Given the description of an element on the screen output the (x, y) to click on. 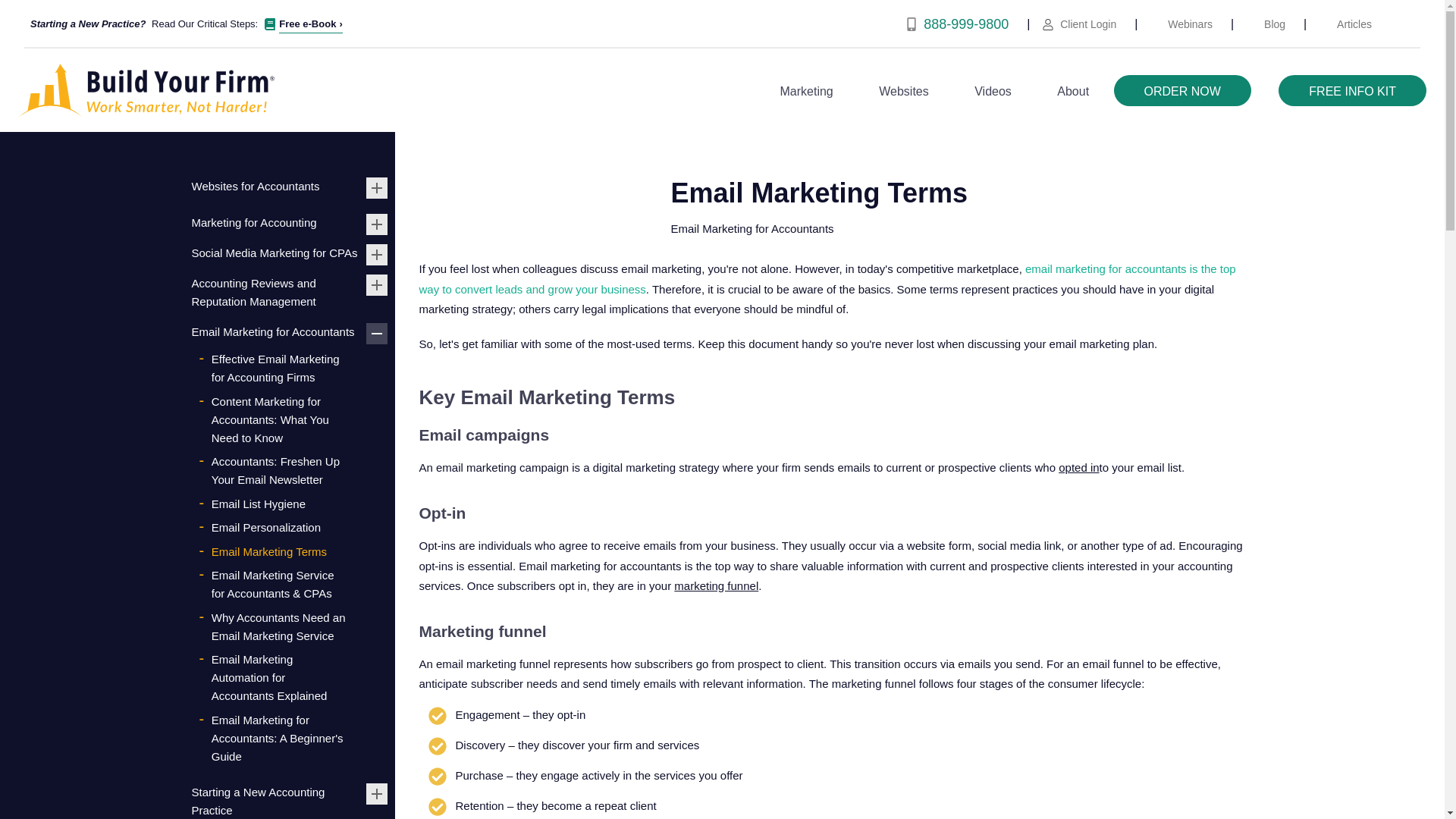
Marketing (806, 91)
Free e-Book (310, 24)
ORDER NOW (1181, 91)
Videos (992, 91)
FREE INFO KIT (1352, 91)
About (1072, 91)
Websites (903, 91)
